Given the description of an element on the screen output the (x, y) to click on. 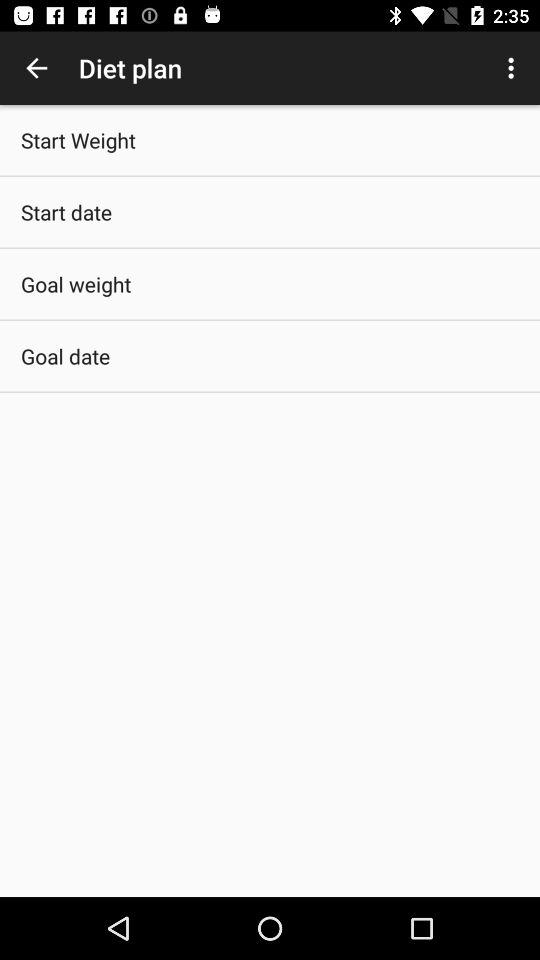
turn off the icon below goal weight (65, 355)
